Given the description of an element on the screen output the (x, y) to click on. 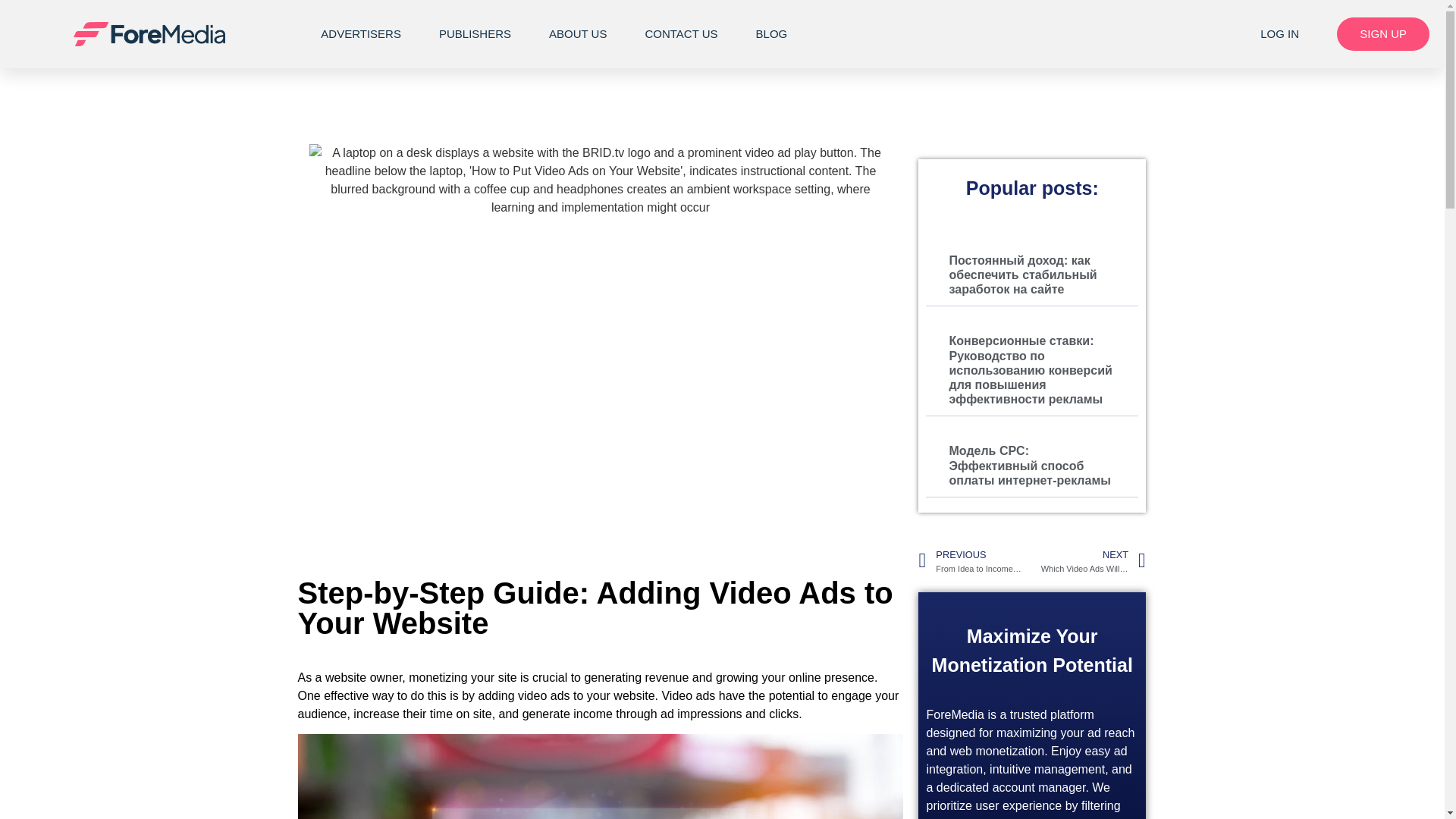
BLOG (771, 33)
ADVERTISERS (360, 33)
SIGN UP (1382, 33)
ABOUT US (577, 33)
CONTACT US (681, 33)
PUBLISHERS (475, 33)
LOG IN (1279, 33)
